Given the description of an element on the screen output the (x, y) to click on. 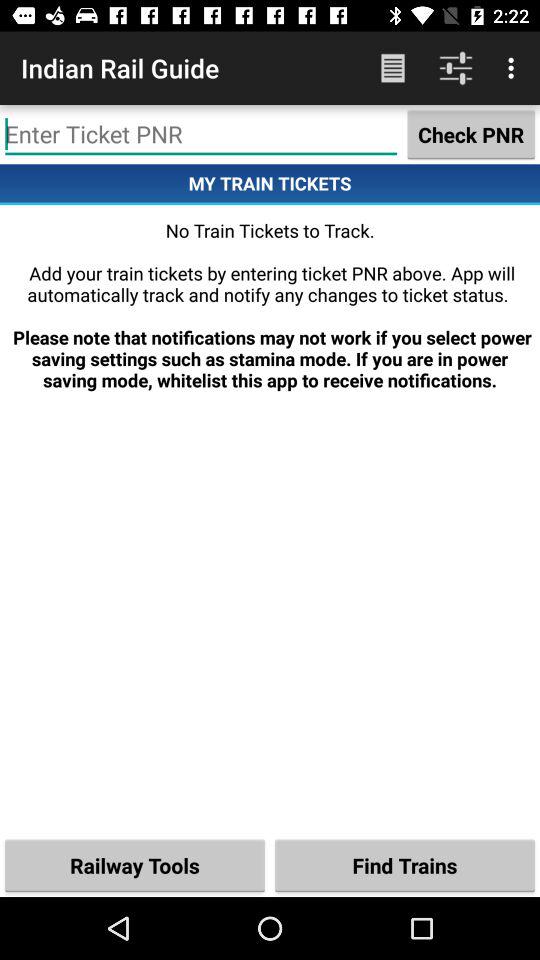
scroll until check pnr icon (471, 134)
